Given the description of an element on the screen output the (x, y) to click on. 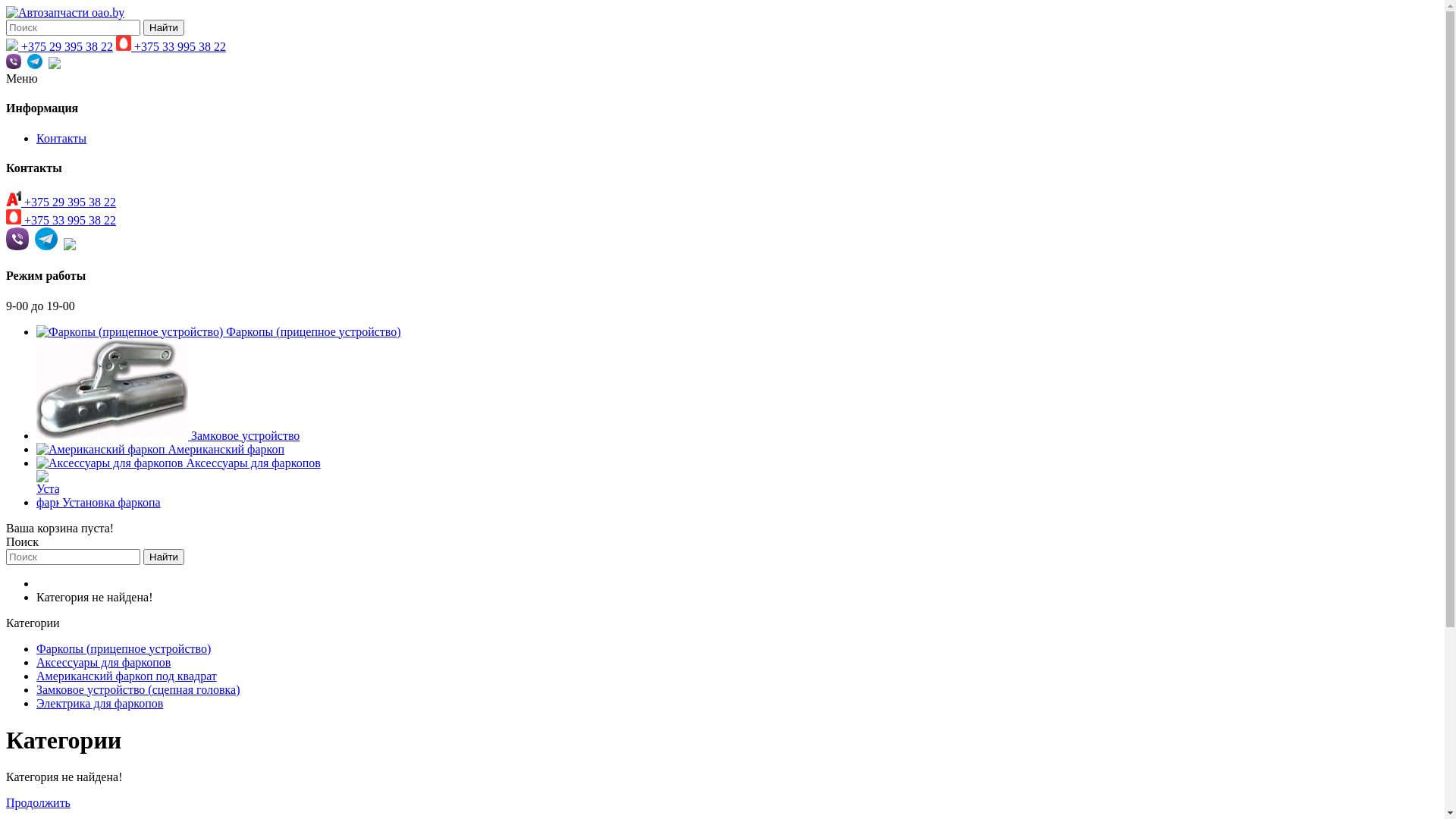
Whatsapp Element type: hover (54, 64)
Viber Element type: hover (17, 245)
Whatsapp Element type: hover (69, 245)
 +375 29 395 38 22 Element type: text (59, 46)
Viber Element type: hover (13, 64)
Telegram Element type: hover (45, 245)
 +375 33 995 38 22 Element type: text (170, 46)
 +375 33 995 38 22 Element type: text (61, 219)
Telegram Element type: hover (34, 64)
 +375 29 395 38 22 Element type: text (61, 201)
